Given the description of an element on the screen output the (x, y) to click on. 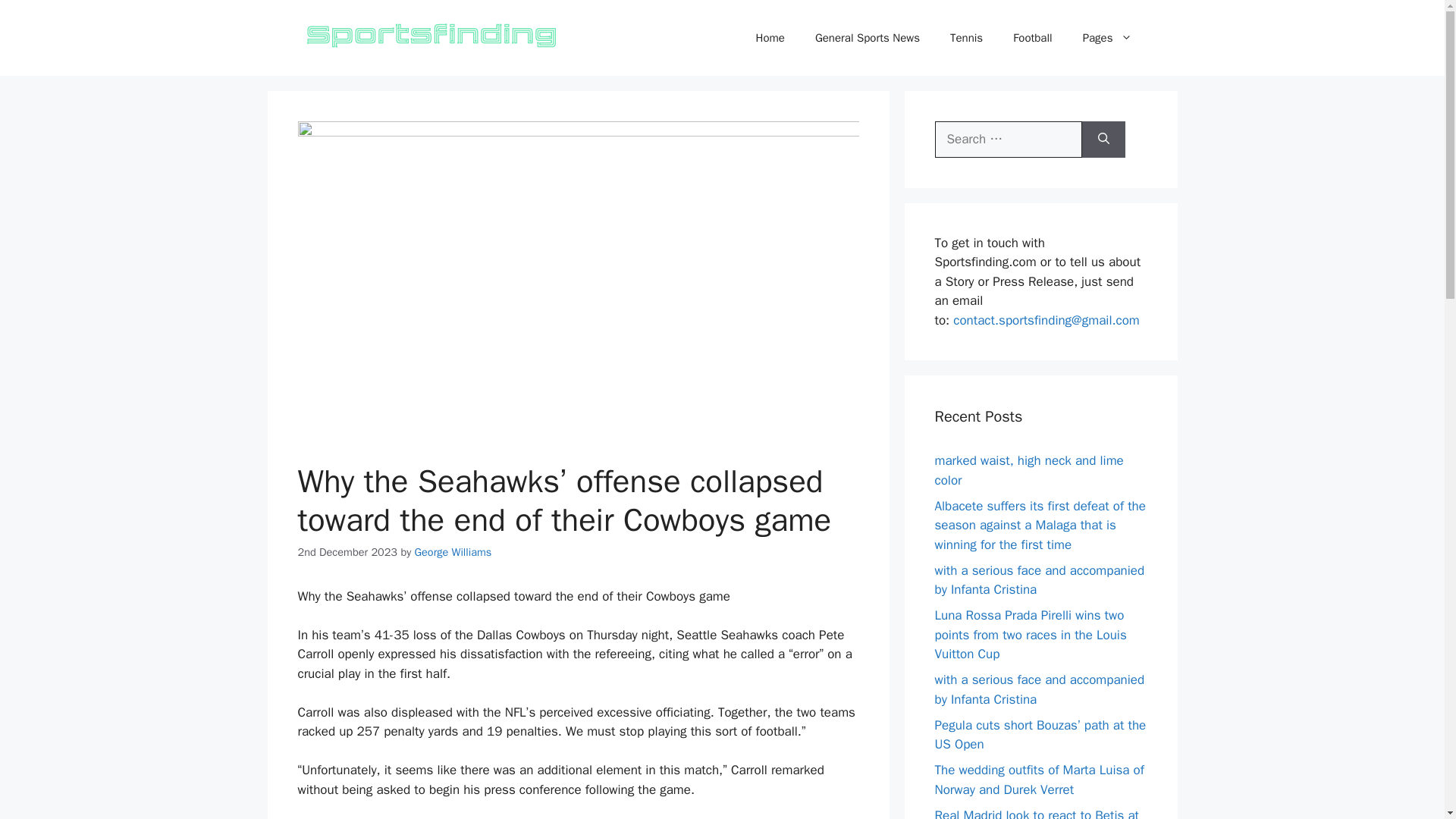
Football (1032, 37)
George Williams (453, 551)
General Sports News (866, 37)
Pages (1107, 37)
View all posts by George Williams (453, 551)
with a serious face and accompanied by Infanta Cristina (1039, 689)
Search for: (1007, 139)
Home (770, 37)
